Given the description of an element on the screen output the (x, y) to click on. 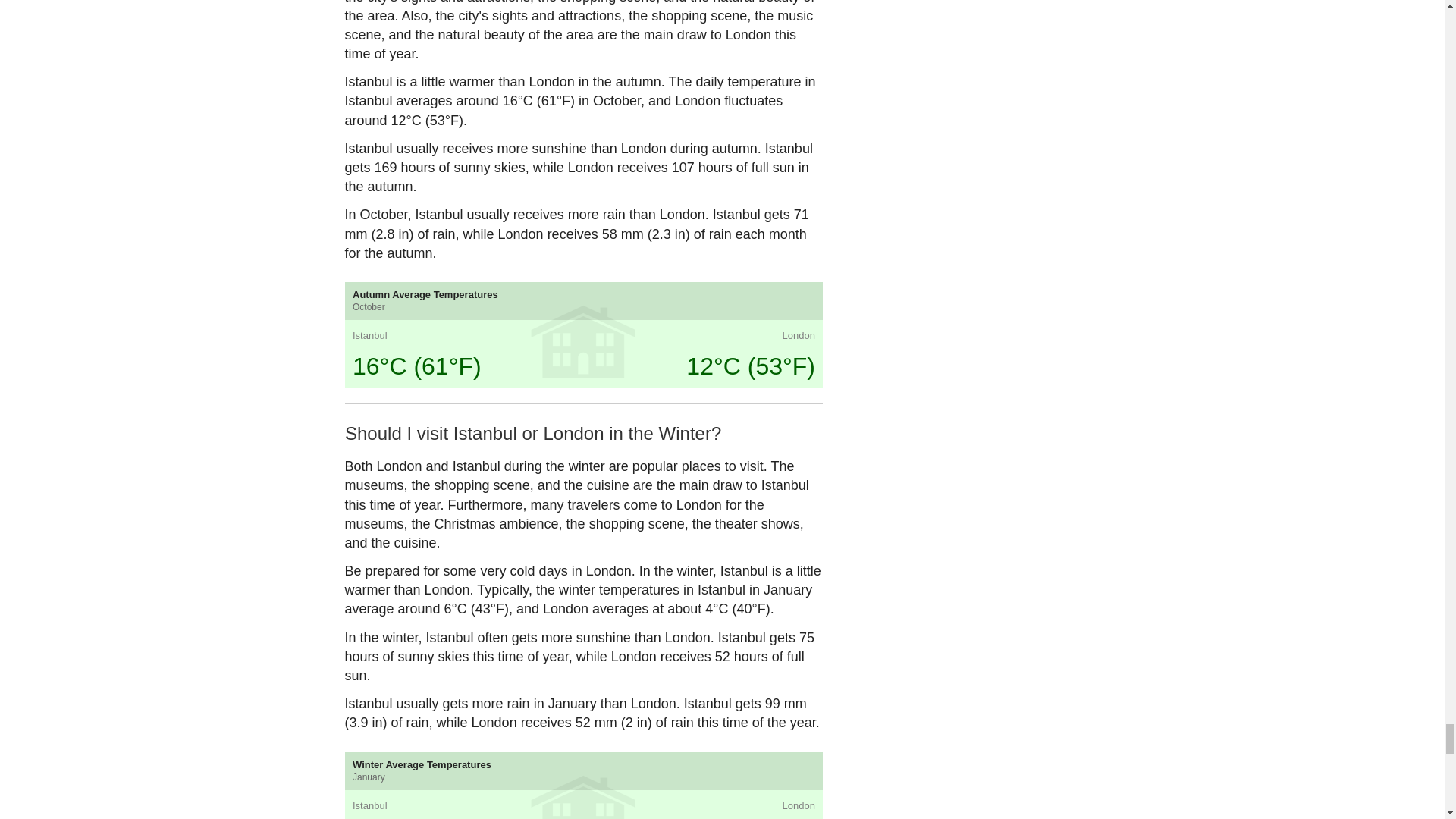
The Best Cheap Backpacker Hostels in London (643, 435)
Quiet and Safe Hostels in London, England (643, 510)
Travel Costs for Izmir (400, 510)
London Hostels Near Kings Cross (764, 359)
Hostels in London with Private Rooms (764, 510)
Travel Costs for Ankara (522, 435)
Popular Hostels in Istanbul, Turkey (400, 435)
Travel Costs for Antalya (522, 510)
